Given the description of an element on the screen output the (x, y) to click on. 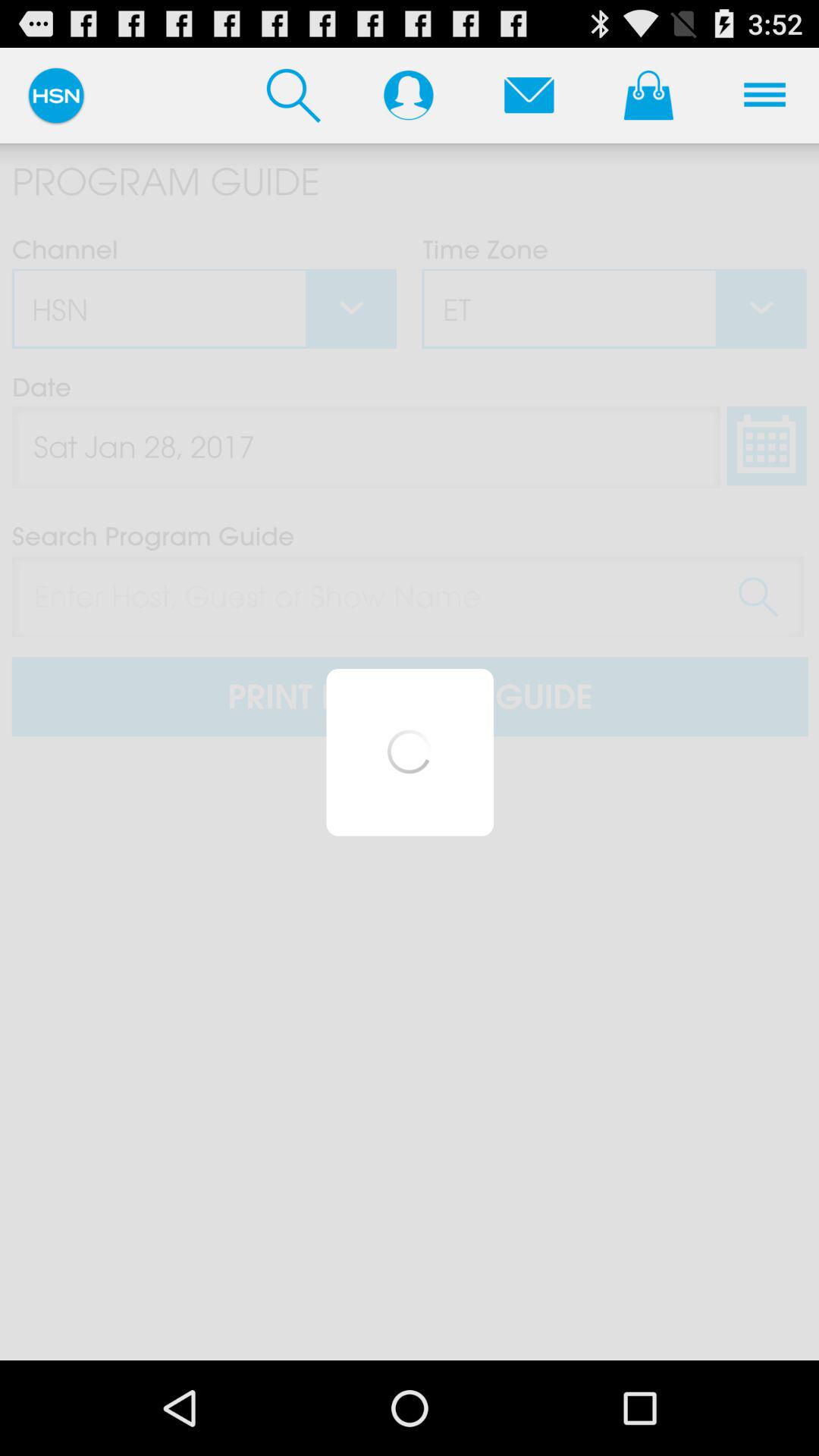
look at email (529, 95)
